Given the description of an element on the screen output the (x, y) to click on. 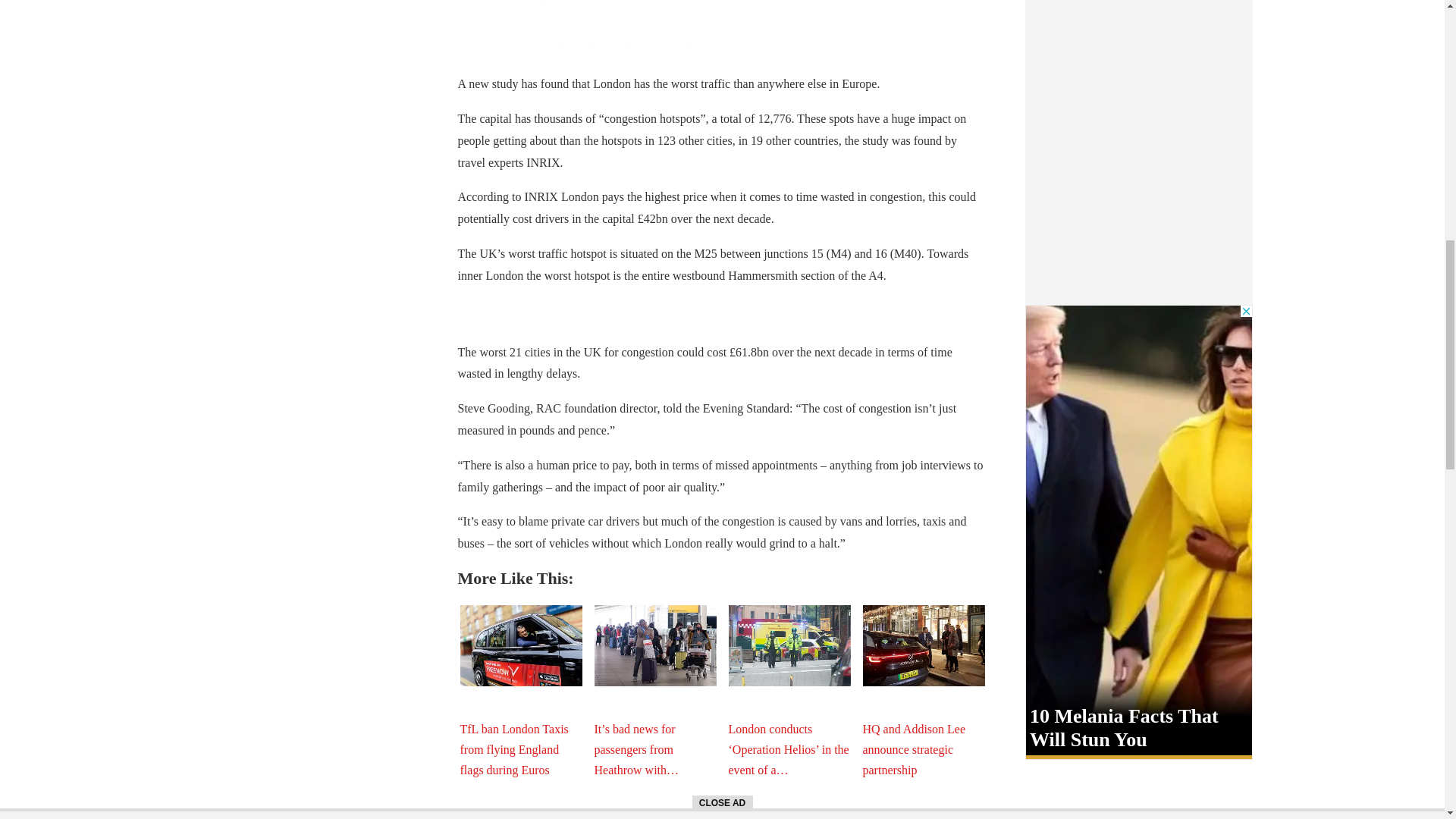
3rd party ad content (589, 27)
TfL ban London Taxis from flying England flags during Euros (520, 645)
HQ and Addison Lee announce strategic partnership (924, 645)
